Given the description of an element on the screen output the (x, y) to click on. 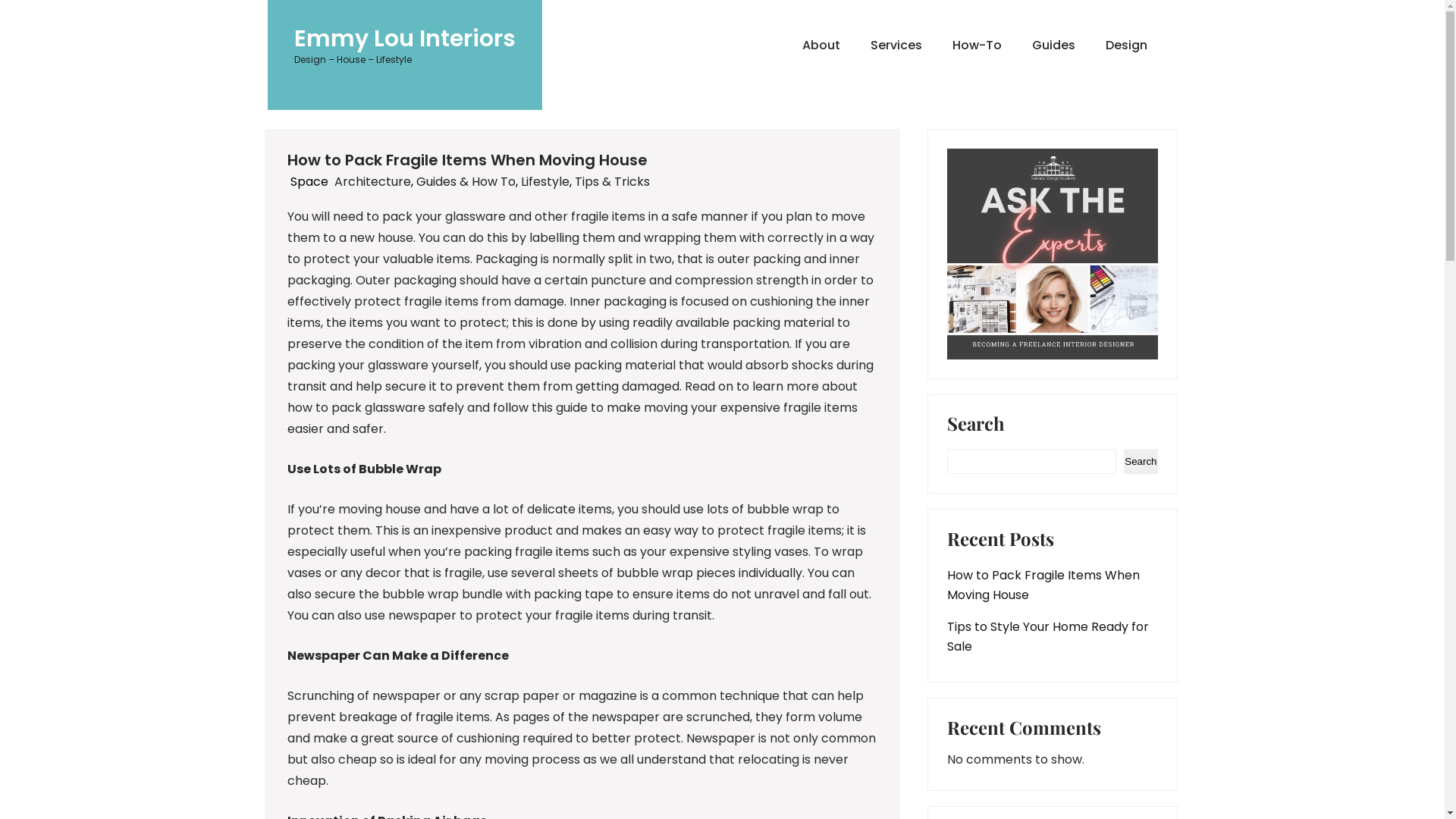
About Element type: text (821, 45)
Tips & Tricks Element type: text (611, 181)
Design Element type: text (1118, 45)
Guides & How To Element type: text (464, 181)
How to Pack Fragile Items When Moving House Element type: text (466, 159)
Tips to Style Your Home Ready for Sale Element type: text (1051, 636)
How to Pack Fragile Items When Moving House Element type: text (1051, 585)
Lifestyle Element type: text (544, 181)
How-To Element type: text (976, 45)
Architecture Element type: text (371, 181)
Guides Element type: text (1052, 45)
Search Element type: text (1140, 460)
Services Element type: text (896, 45)
